Given the description of an element on the screen output the (x, y) to click on. 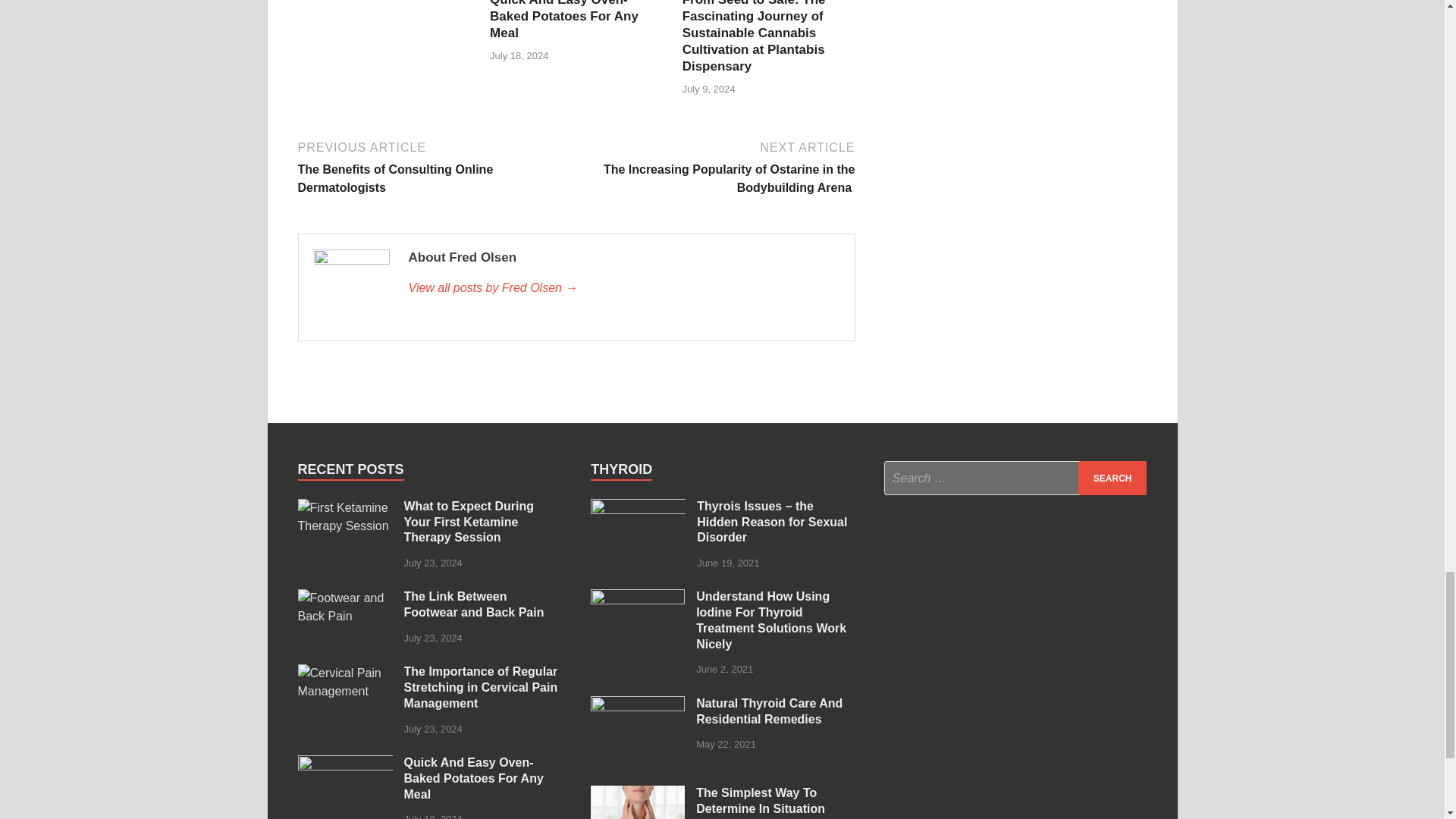
Quick And Easy Oven-Baked Potatoes For Any Meal (564, 20)
Search (1112, 478)
Quick And Easy Oven-Baked Potatoes For Any Meal (564, 20)
Search (1112, 478)
Fred Olsen (622, 288)
